Given the description of an element on the screen output the (x, y) to click on. 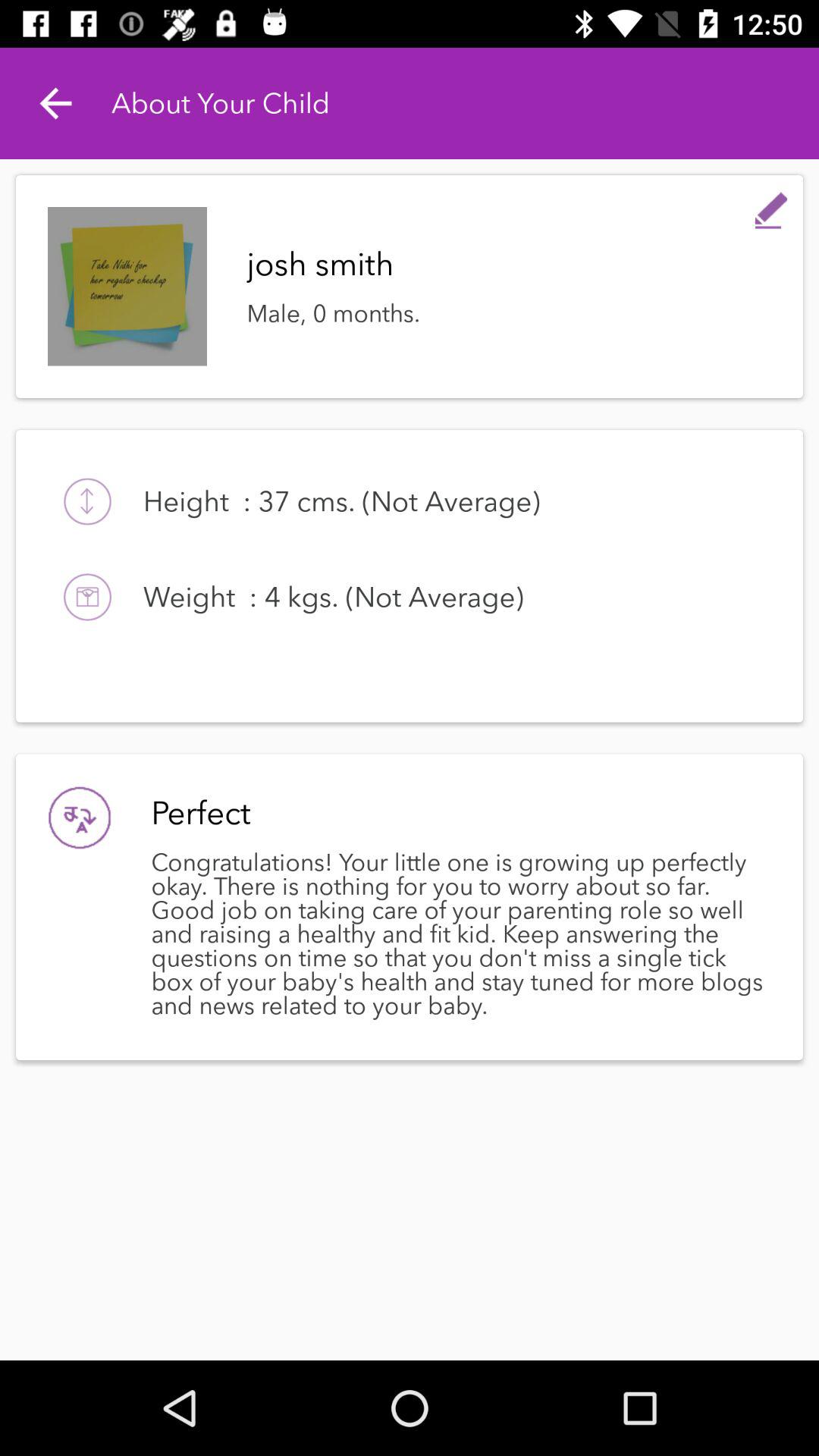
select the icon to the left of the about your child item (55, 103)
